Given the description of an element on the screen output the (x, y) to click on. 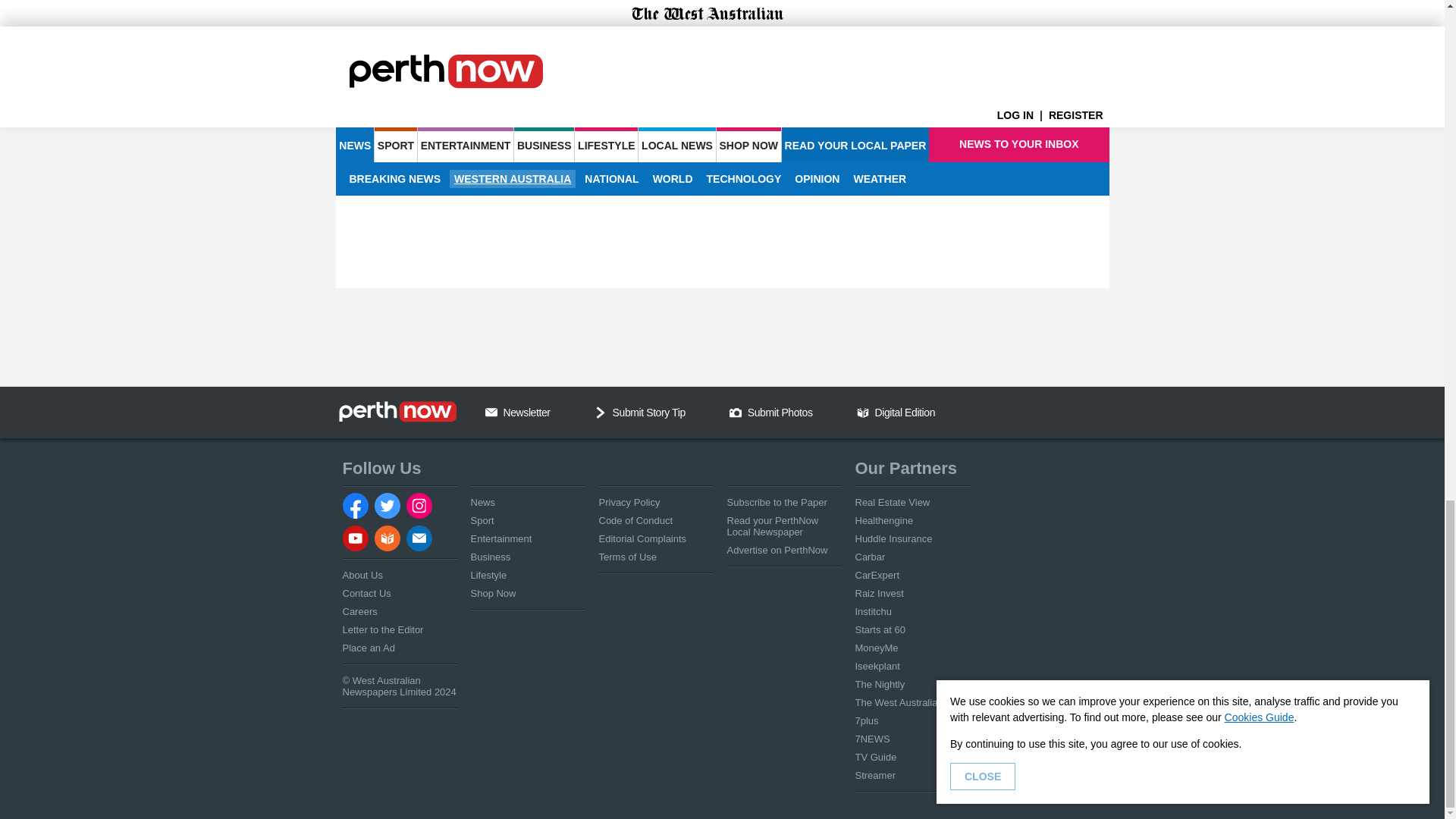
Email Us (490, 412)
Camera Icon (735, 412)
Chevron Down Icon (600, 412)
